Given the description of an element on the screen output the (x, y) to click on. 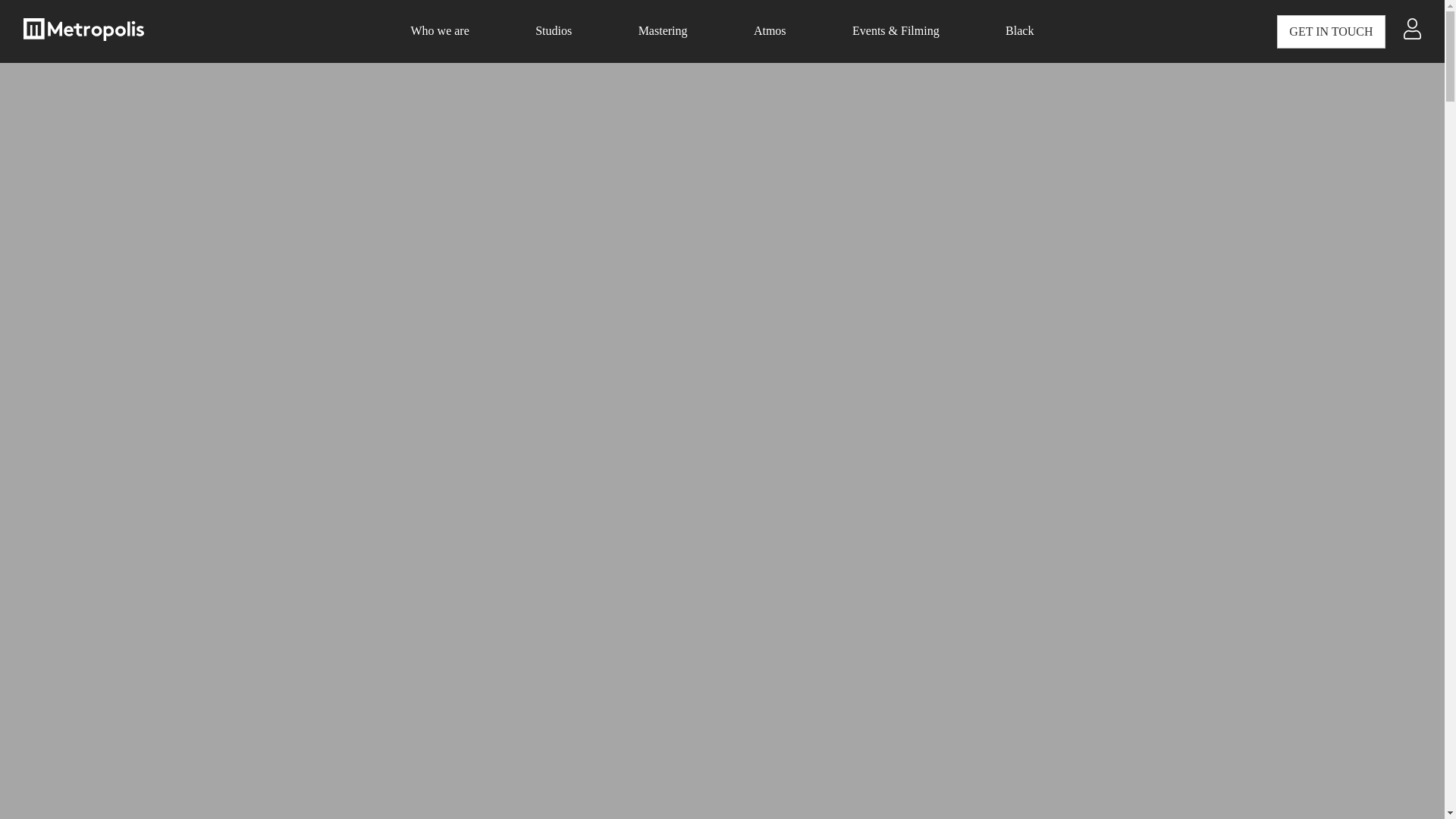
GET IN TOUCH (1330, 34)
Atmos (770, 30)
GET IN TOUCH (1330, 31)
Black (1019, 30)
Mastering (663, 30)
Who we are (439, 30)
Studios (553, 30)
